Given the description of an element on the screen output the (x, y) to click on. 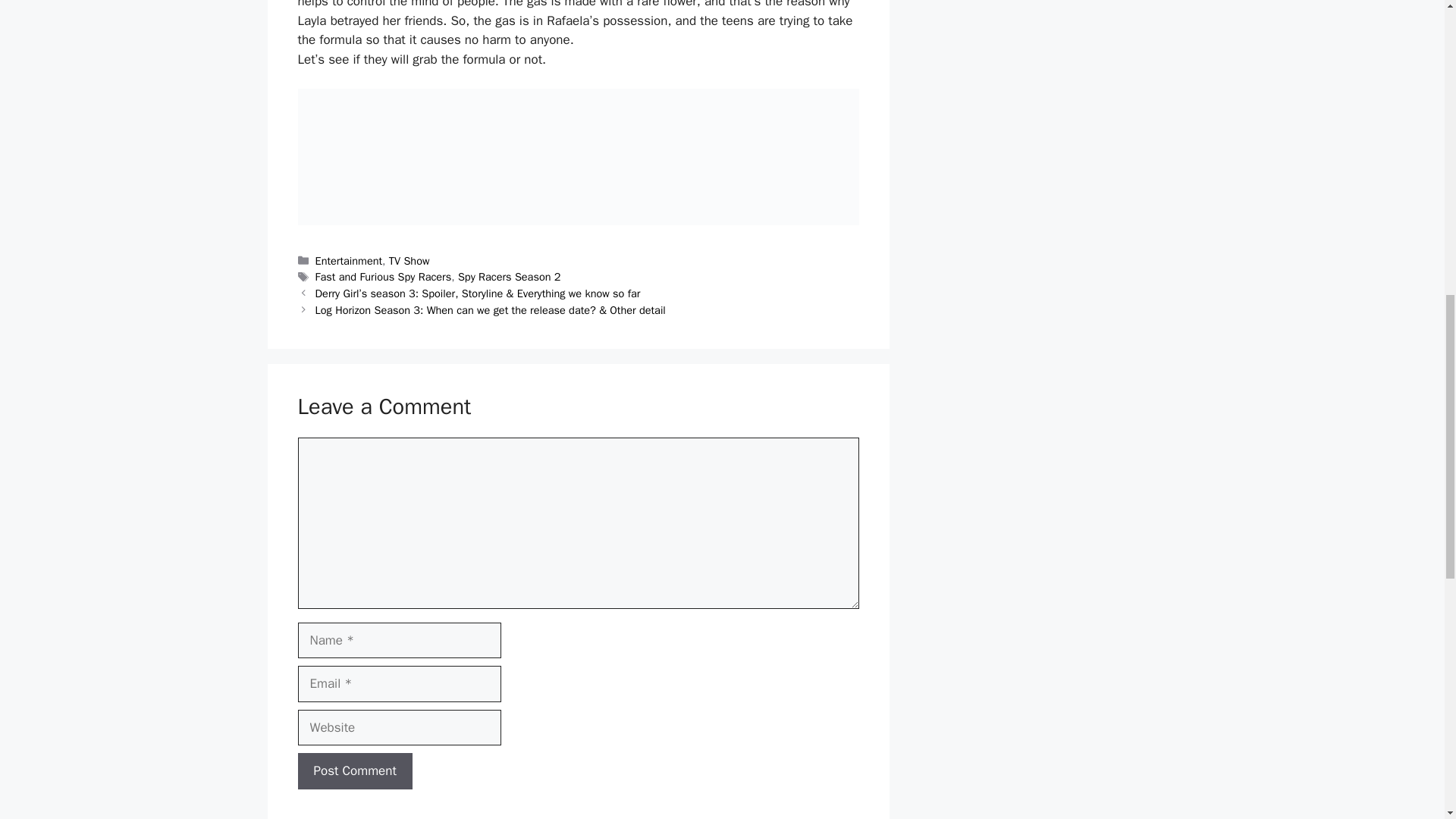
Post Comment (354, 770)
TV Show (408, 260)
Post Comment (354, 770)
Scroll back to top (1406, 720)
Spy Racers Season 2 (509, 276)
Fast and Furious Spy Racers (383, 276)
Entertainment (348, 260)
